Given the description of an element on the screen output the (x, y) to click on. 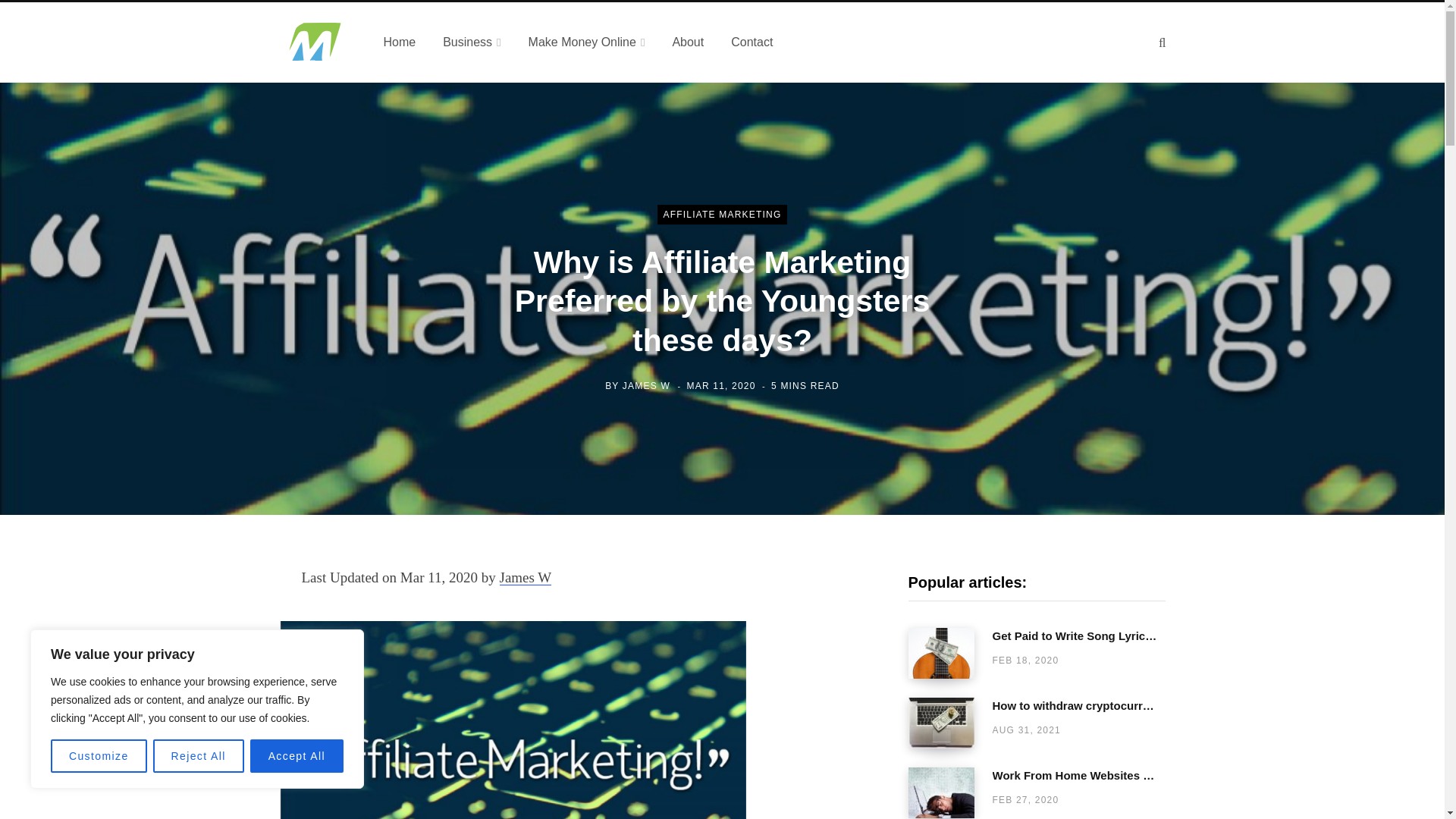
Customize (98, 756)
James W (525, 577)
Posts by James W (646, 385)
MakeMoneyInLife.com (313, 42)
Business (471, 41)
Accept All (296, 756)
Home (399, 41)
Reject All (198, 756)
Make Money Online (587, 41)
About (687, 41)
